Given the description of an element on the screen output the (x, y) to click on. 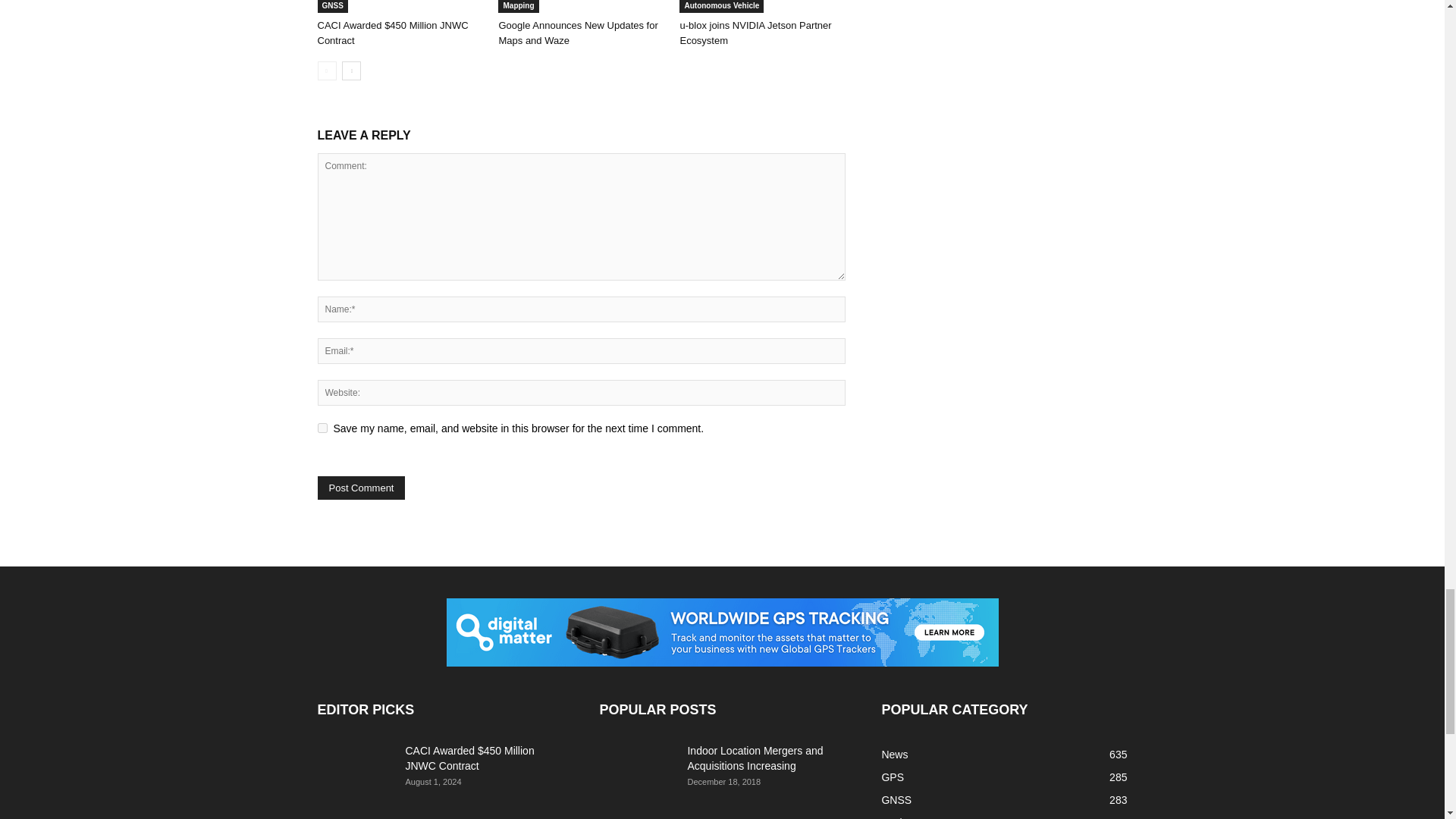
Post Comment (360, 487)
u-blox joins NVIDIA Jetson Partner Ecosystem (755, 32)
Google Announces New Updates for Maps and Waze (577, 32)
yes (321, 428)
Google Announces New Updates for Maps and Waze (580, 6)
u-blox joins NVIDIA Jetson Partner Ecosystem (761, 6)
